Given the description of an element on the screen output the (x, y) to click on. 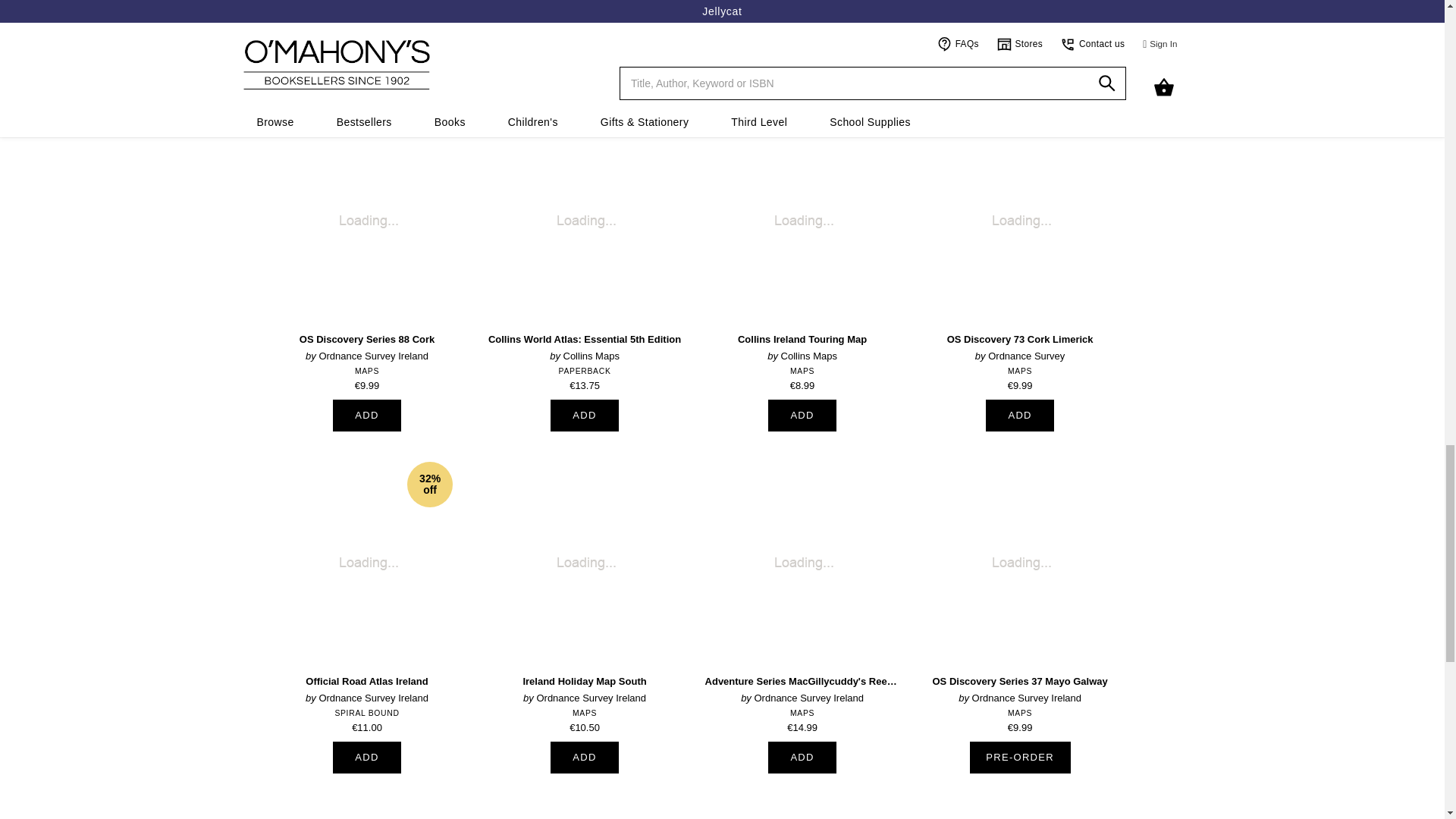
See more about Collins Ireland Touring Map by Collins Maps (801, 248)
